Given the description of an element on the screen output the (x, y) to click on. 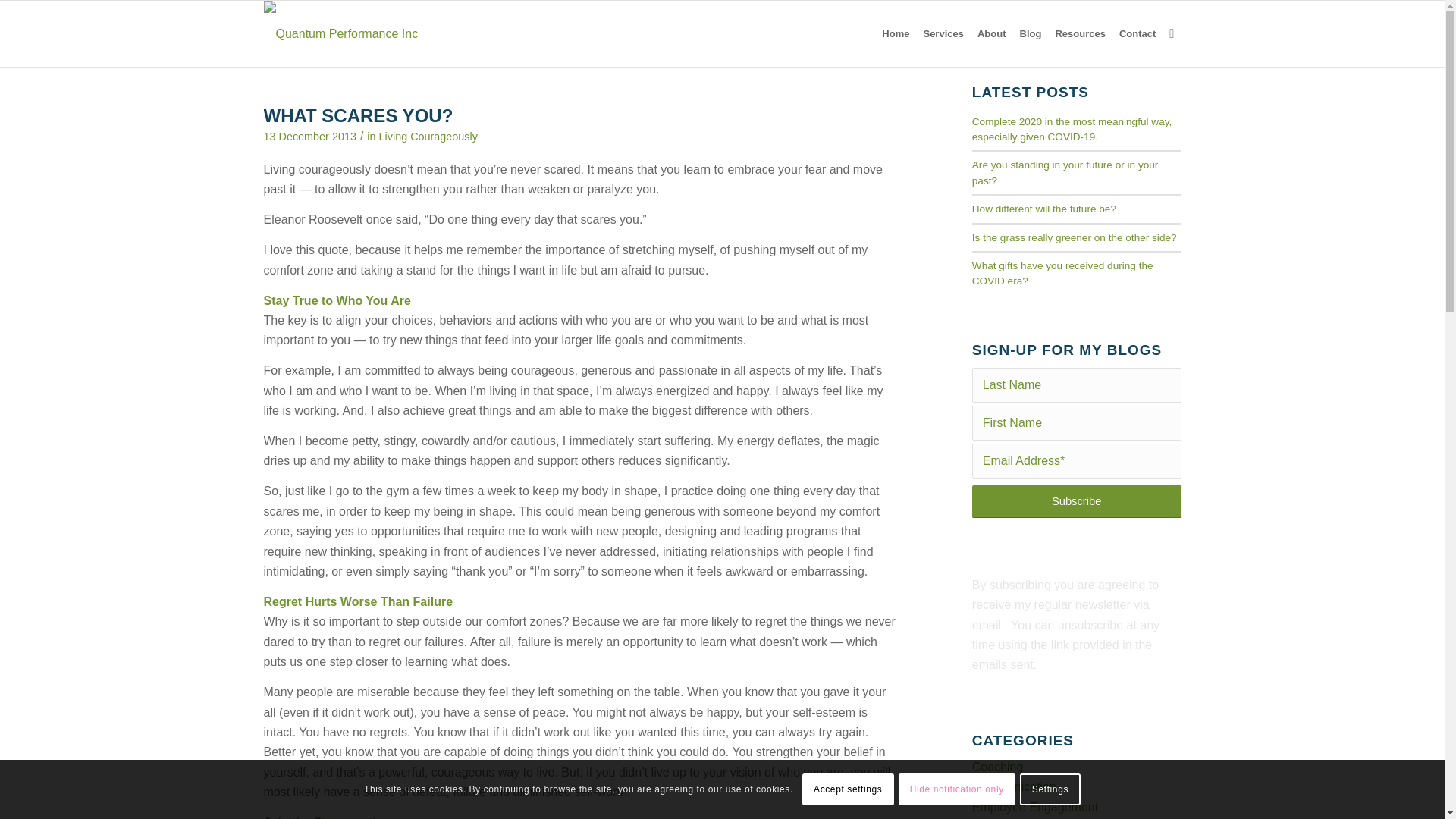
Are you standing in your future or in your past? (1065, 171)
Subscribe (1076, 501)
Coaching (997, 766)
How different will the future be? (1044, 208)
Permanent Link: What Scares You? (357, 115)
Subscribe (1076, 501)
Living Courageously (427, 136)
Resources (1080, 33)
Communication (1014, 786)
Is the grass really greener on the other side? (1074, 237)
Resources (1080, 33)
